Given the description of an element on the screen output the (x, y) to click on. 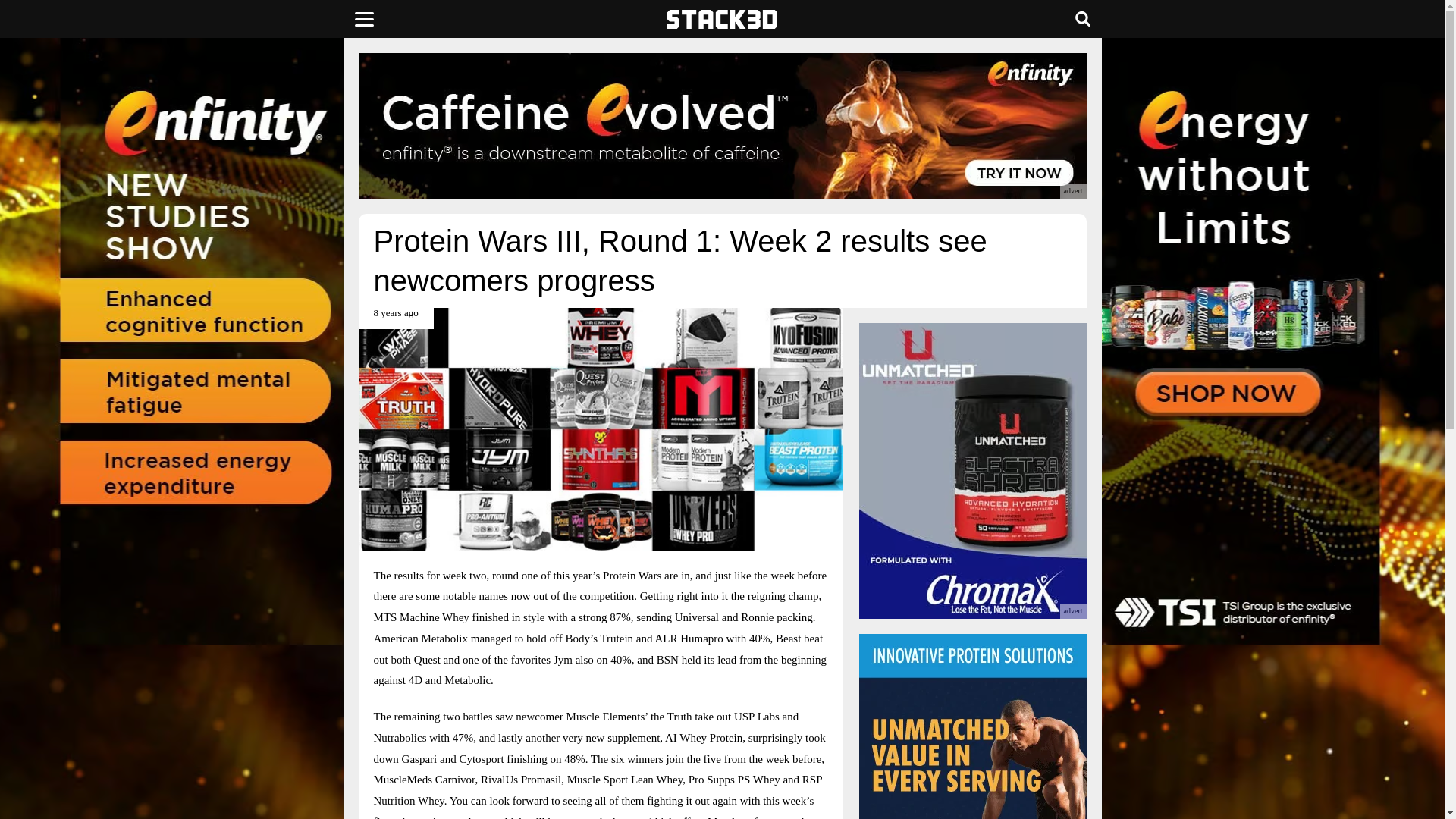
November 16th 2015 (395, 318)
